Given the description of an element on the screen output the (x, y) to click on. 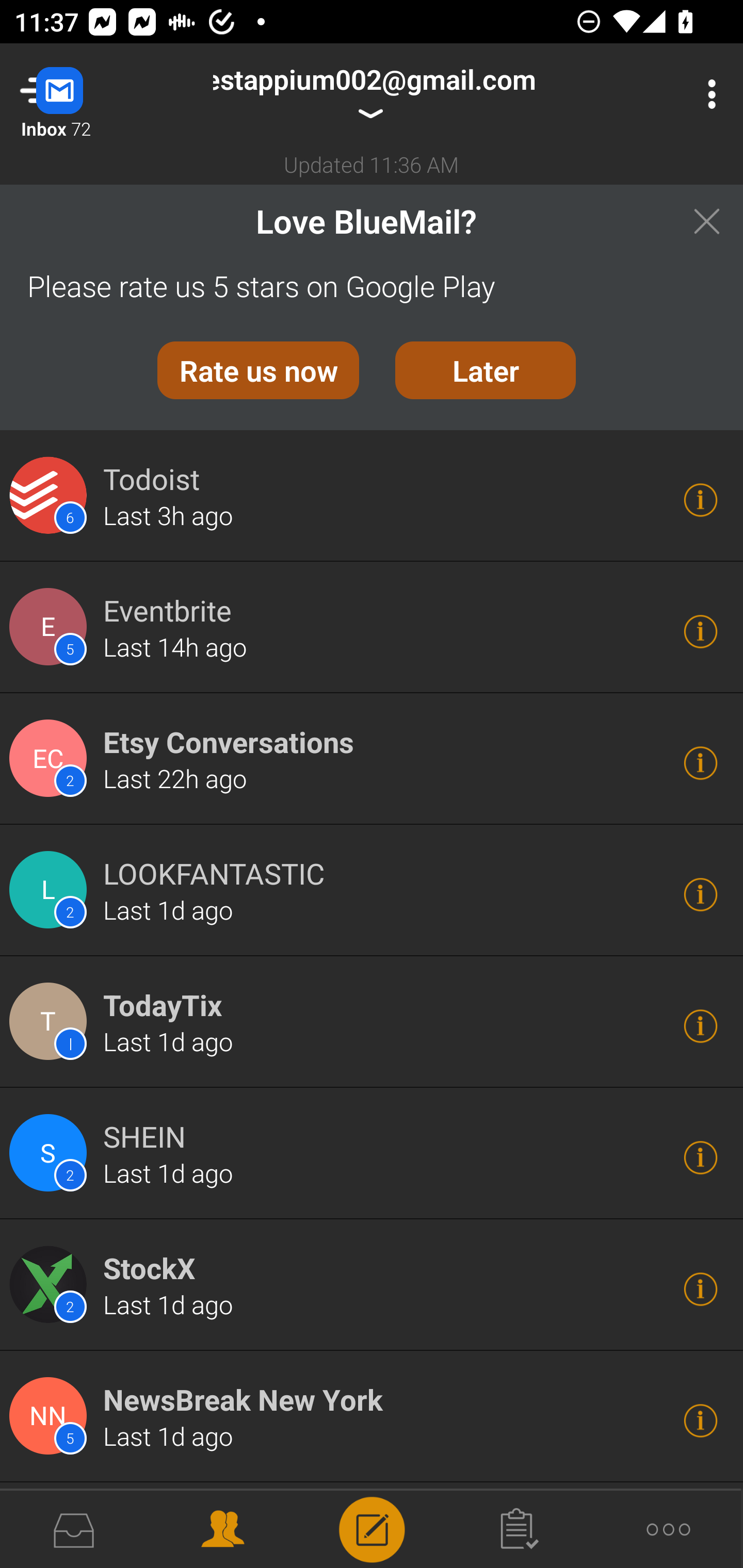
Navigate up (81, 93)
testappium002@gmail.com (378, 93)
More Options (706, 93)
Updated 11:36 AM (371, 164)
Rate us now (257, 370)
Later (485, 370)
6 Todoist Last 3h ago (371, 495)
6 (50, 495)
5 Eventbrite Last 14h ago (371, 627)
5 (50, 626)
2 Etsy Conversations Last 22h ago (371, 758)
2 (50, 758)
2 LOOKFANTASTIC Last 1d ago (371, 890)
2 (50, 889)
TodayTix Last 1d ago (371, 1022)
2 SHEIN Last 1d ago (371, 1153)
2 (50, 1153)
2 StockX Last 1d ago (371, 1285)
2 (50, 1284)
5 NewsBreak New York Last 1d ago (371, 1416)
5 (50, 1416)
Compose (371, 1528)
